Given the description of an element on the screen output the (x, y) to click on. 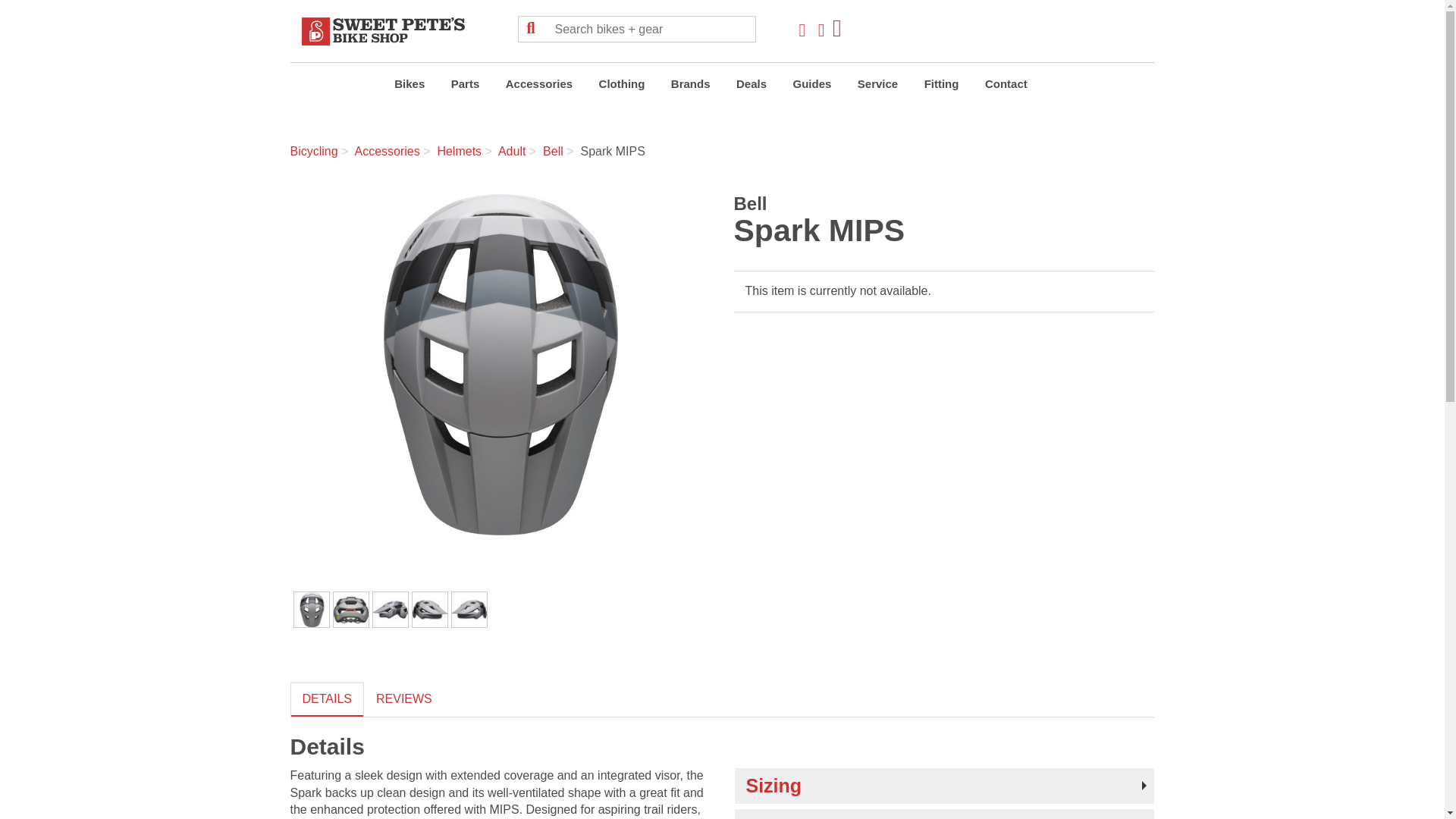
Bikes (408, 87)
